Given the description of an element on the screen output the (x, y) to click on. 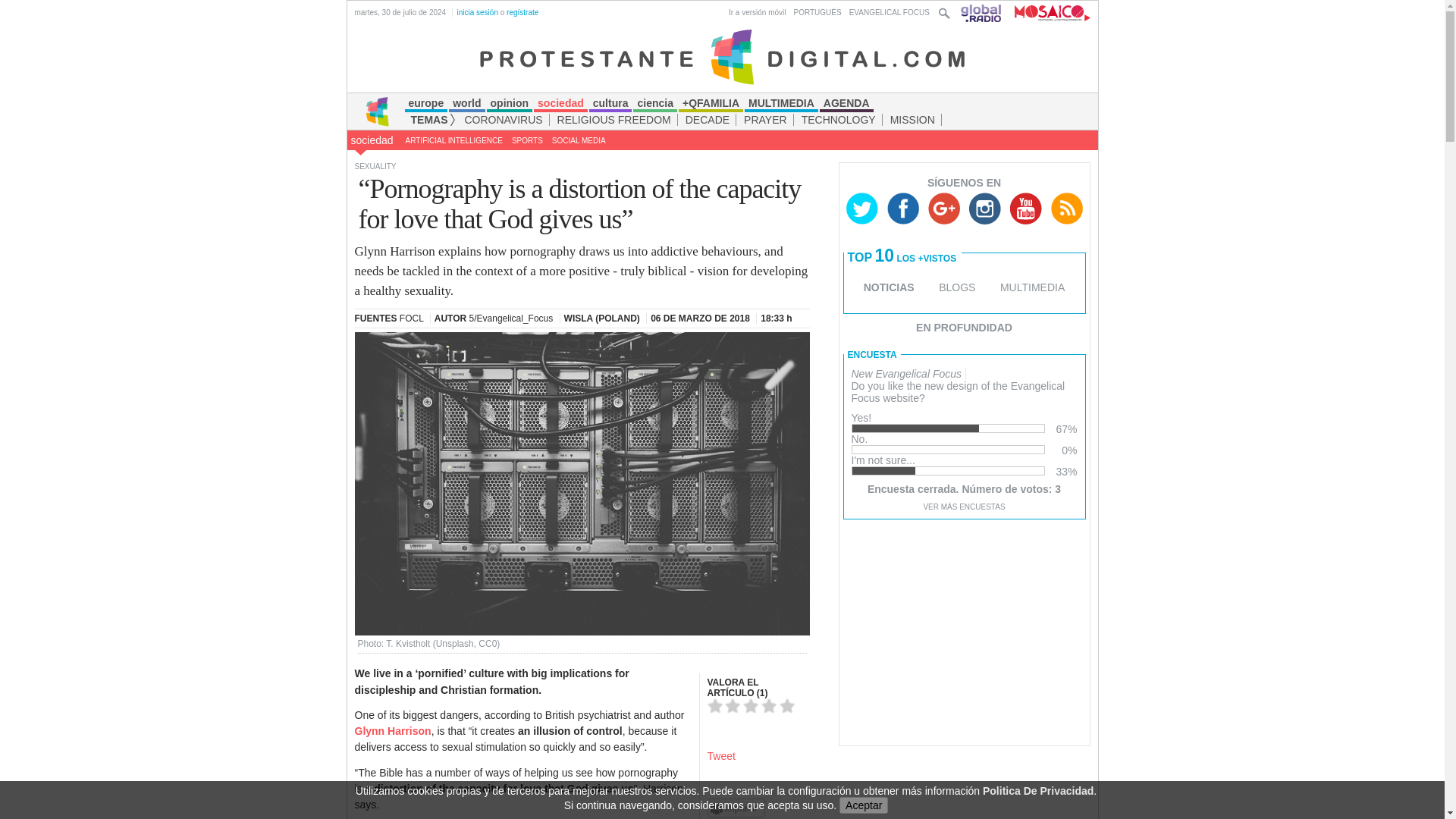
sociedad (371, 140)
